Given the description of an element on the screen output the (x, y) to click on. 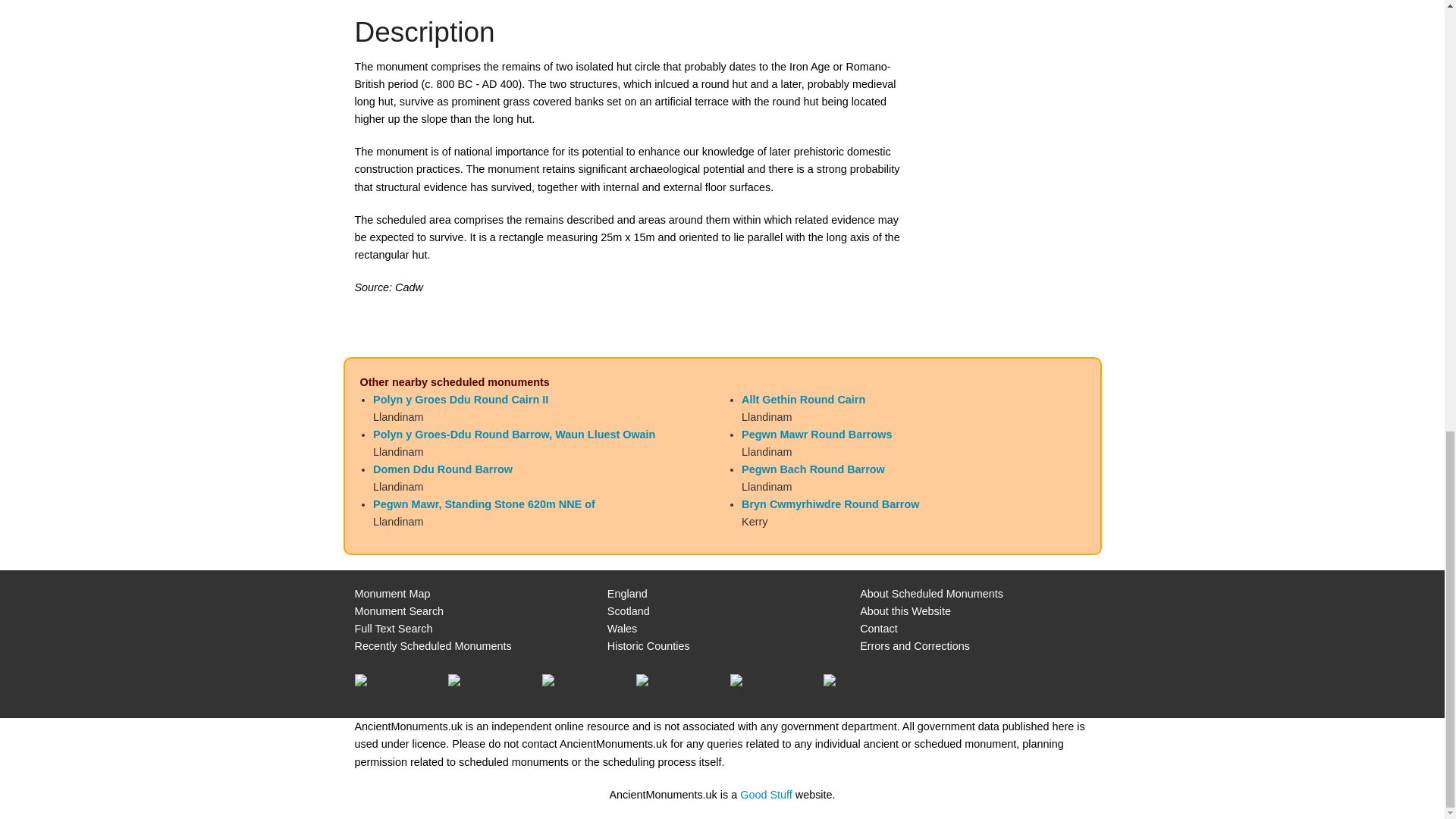
Polyn y Groes-Ddu Round Barrow, Waun Lluest Owain (513, 434)
Polyn y Groes Ddu Round Cairn II (460, 399)
Domen Ddu Round Barrow (442, 469)
Pegwn Mawr, Standing Stone 620m NNE of (483, 503)
Allt Gethin Round Cairn (802, 399)
